Given the description of an element on the screen output the (x, y) to click on. 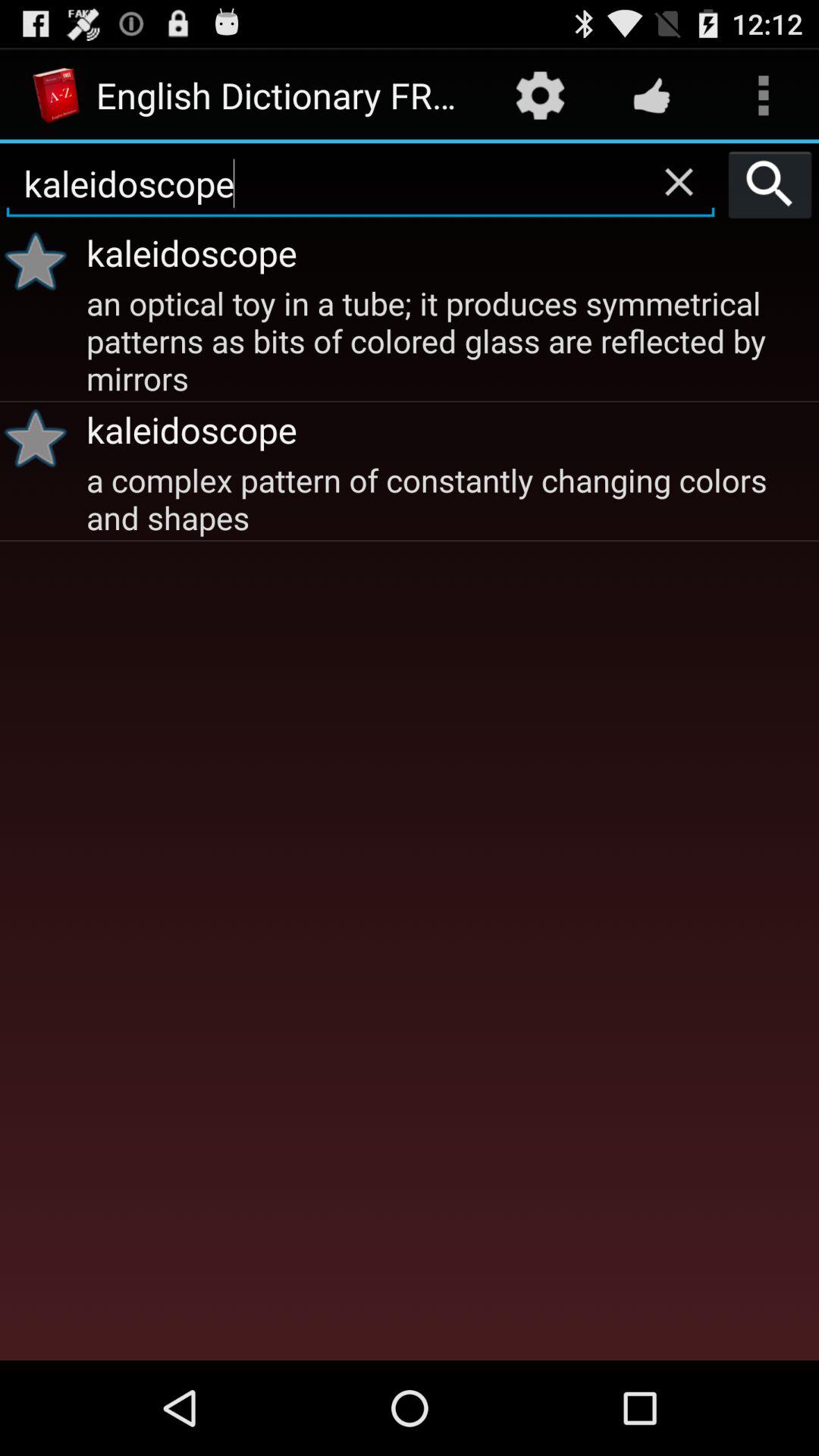
open the item to the right of kaleidoscope icon (770, 184)
